Given the description of an element on the screen output the (x, y) to click on. 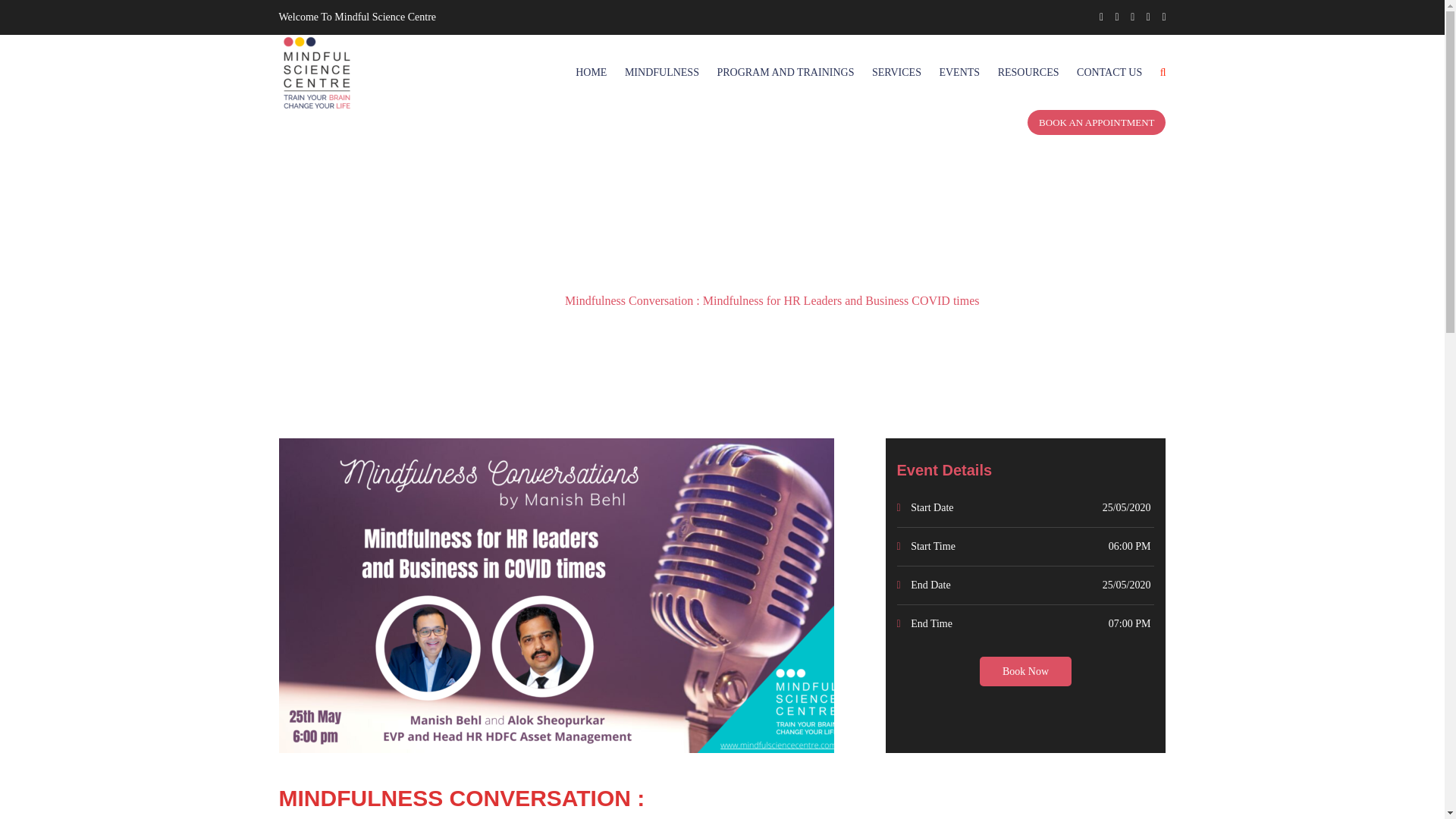
MINDFULNESS (661, 72)
PROGRAM AND TRAININGS (784, 72)
